Given the description of an element on the screen output the (x, y) to click on. 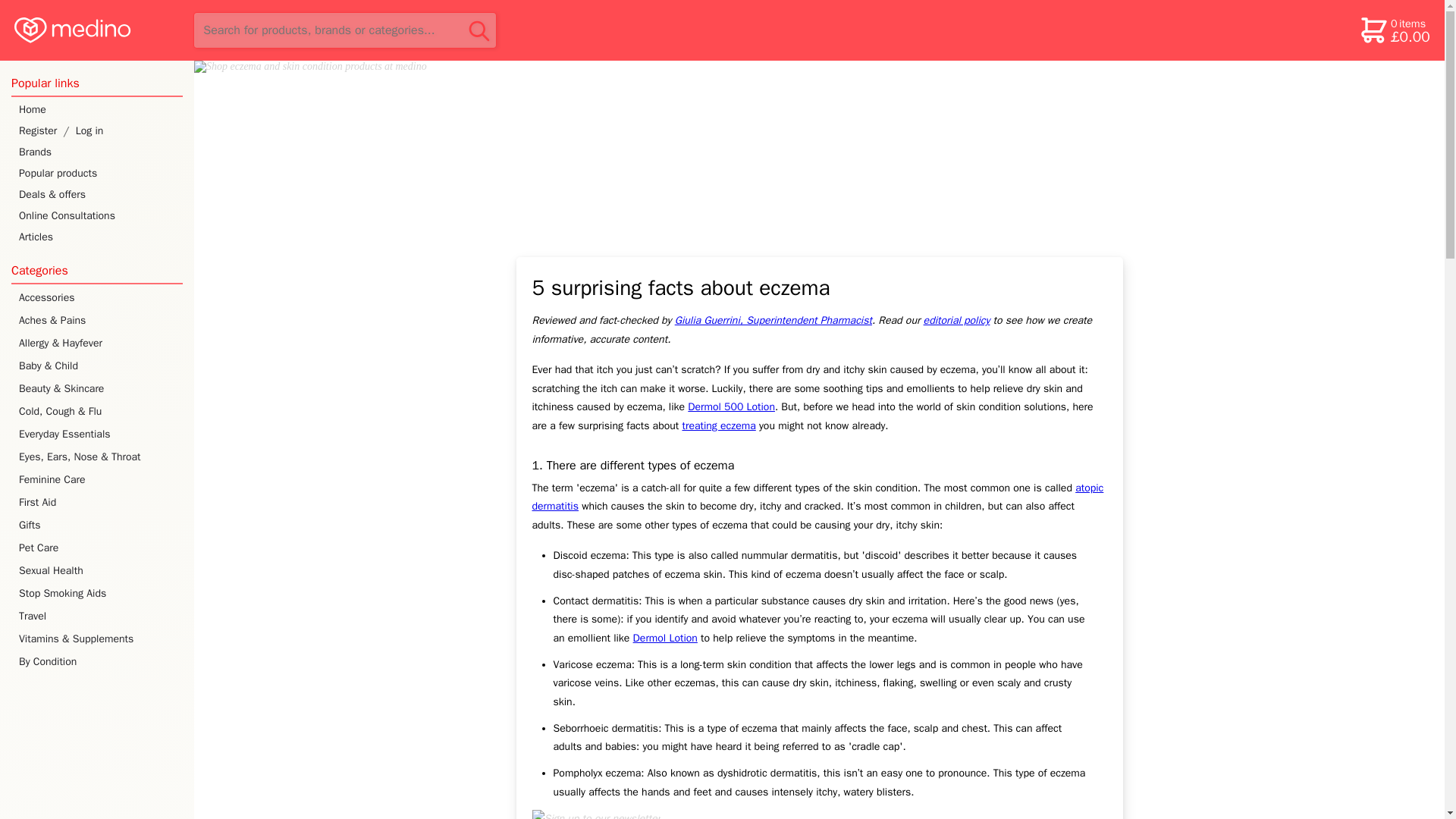
Articles (96, 237)
Log in (131, 130)
Home (96, 109)
Register (31, 130)
Accessories (98, 297)
home (95, 30)
Popular products (96, 173)
Online Consultations (96, 215)
Brands (96, 151)
